Given the description of an element on the screen output the (x, y) to click on. 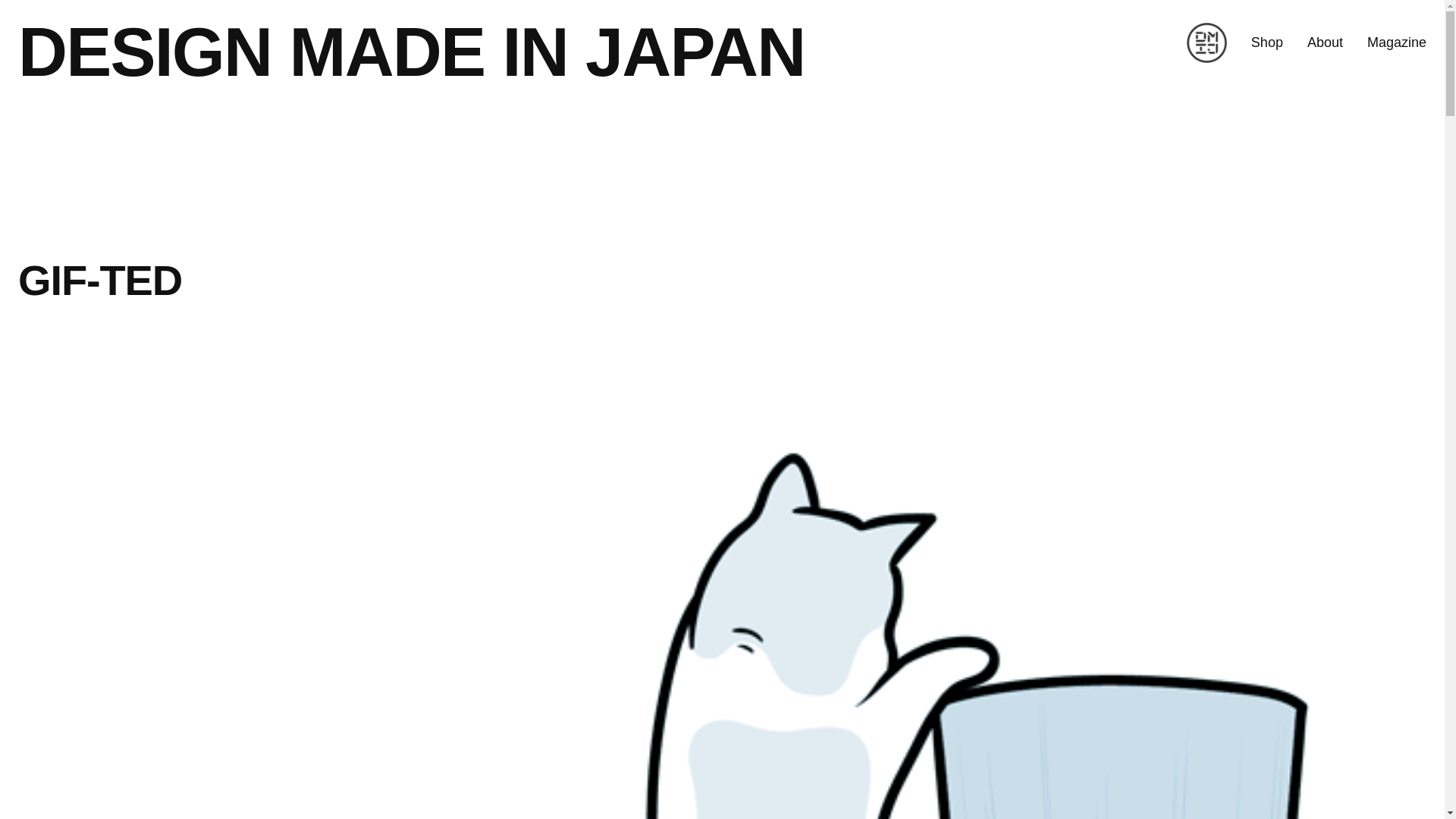
DESIGN MADE IN JAPAN (411, 52)
Shop (1266, 42)
About (1324, 42)
Magazine (1396, 42)
